Given the description of an element on the screen output the (x, y) to click on. 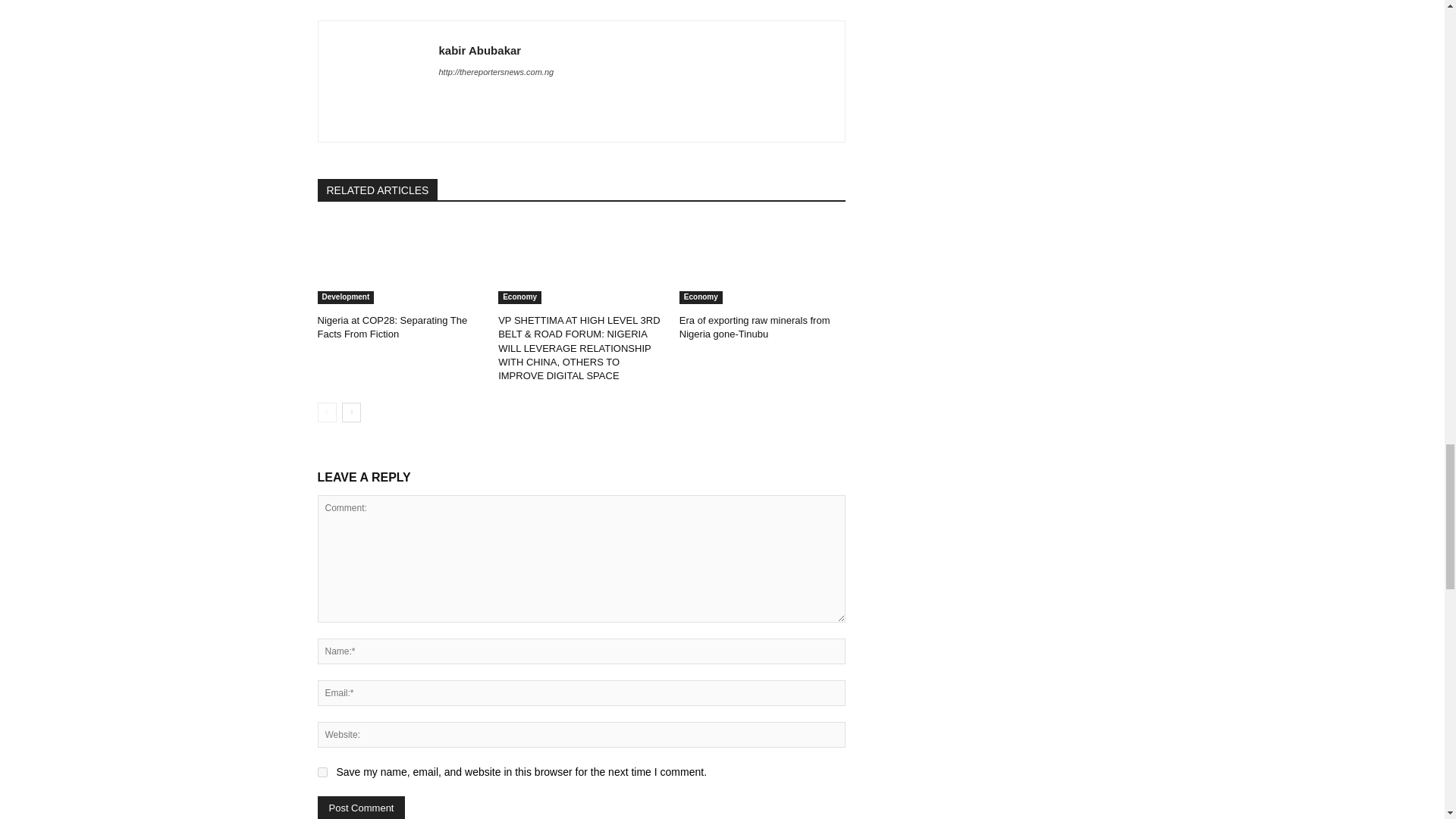
yes (321, 772)
Post Comment (360, 807)
